Given the description of an element on the screen output the (x, y) to click on. 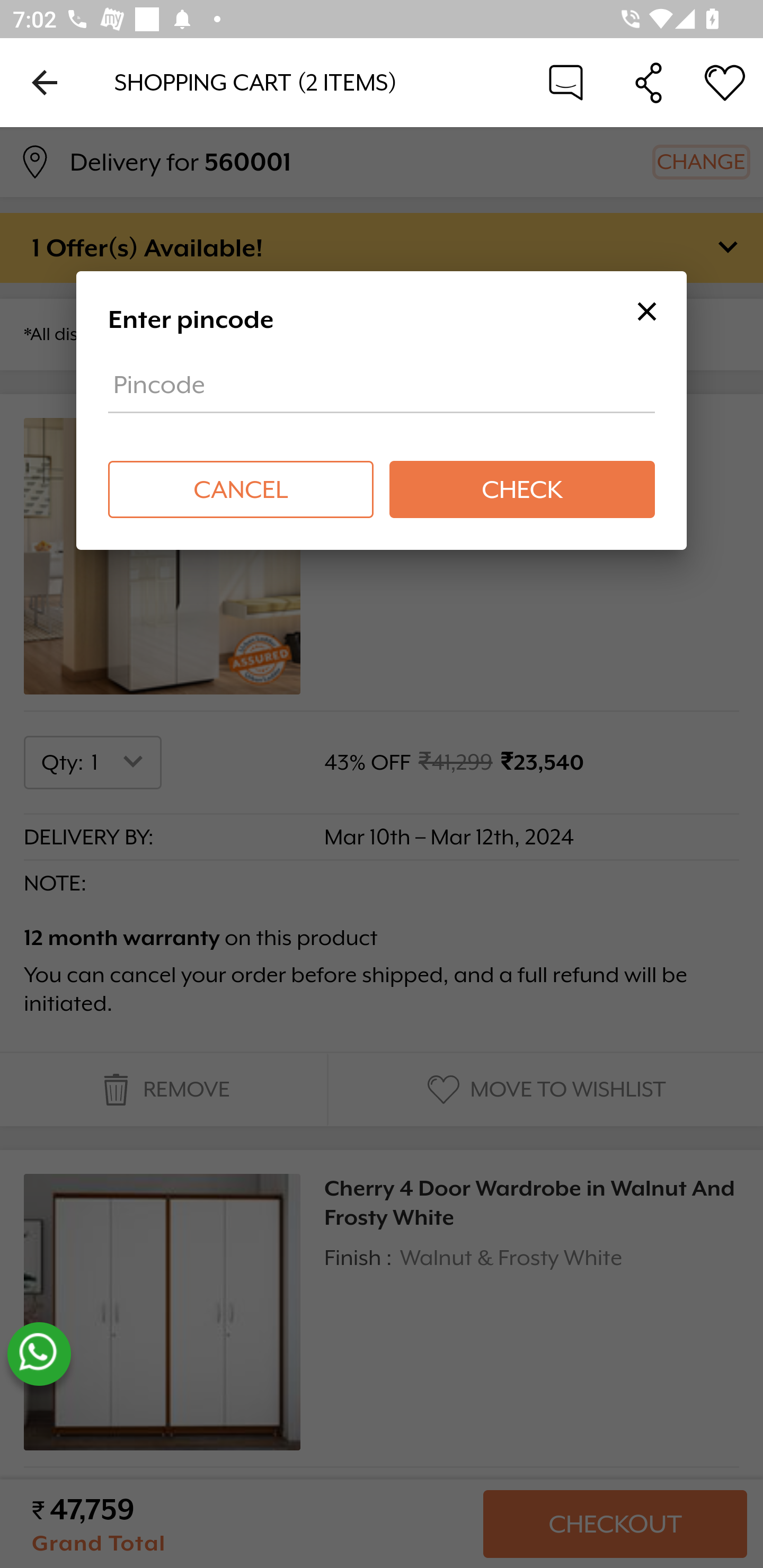
Navigate up (44, 82)
Chat (565, 81)
Share Cart (648, 81)
Wishlist (724, 81)
Pincode (381, 390)
CANCEL (240, 489)
CHECK (521, 489)
whatsapp (38, 1353)
